Given the description of an element on the screen output the (x, y) to click on. 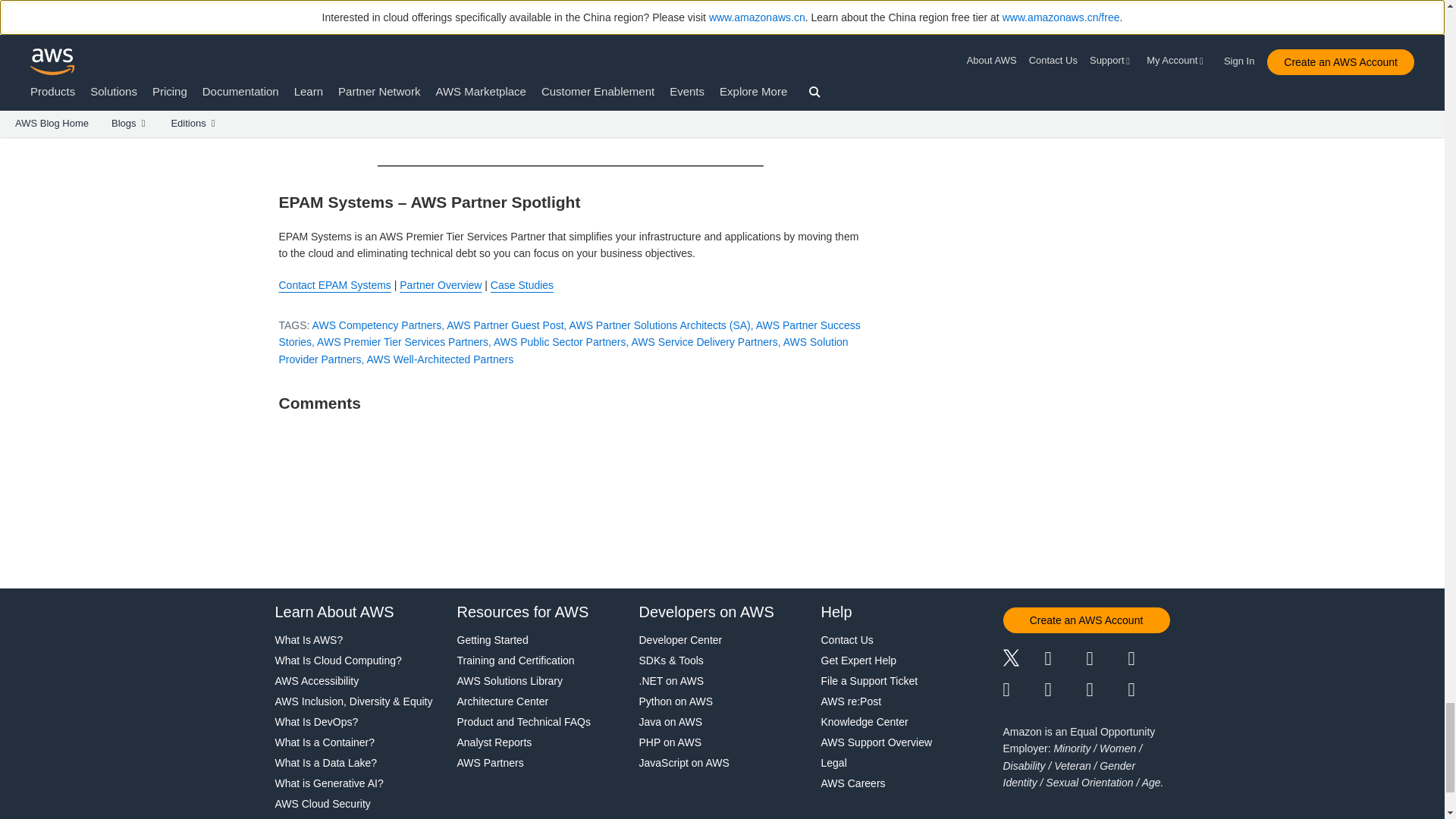
Instagram (1149, 659)
Linkedin (1106, 659)
Facebook (1065, 659)
Twitch (1023, 690)
Podcast (1106, 690)
YouTube (1065, 690)
Twitter (1023, 659)
